Given the description of an element on the screen output the (x, y) to click on. 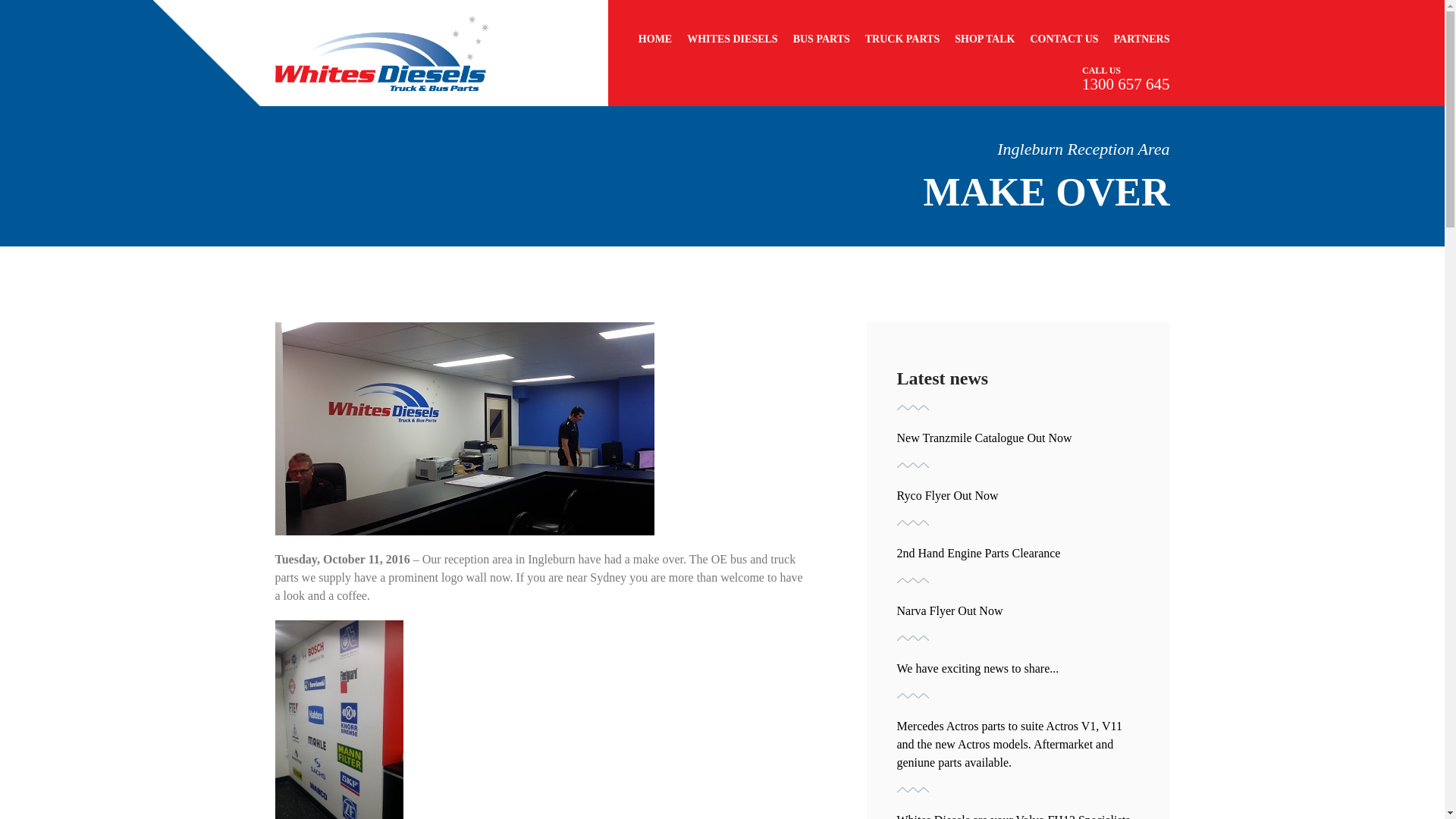
BUS PARTS (821, 39)
Ryco Flyer Out Now (946, 495)
SHOP TALK (984, 39)
TRUCK PARTS (901, 39)
Narva Flyer Out Now (949, 610)
CONTACT US (1063, 39)
PARTNERS (1141, 39)
WHITES DIESELS (732, 39)
2nd Hand Engine Parts Clearance (977, 553)
New Tranzmile Catalogue Out Now (983, 437)
HOME (655, 39)
We have exciting news to share... (977, 667)
Whites Diesels are your Volvo FH13 Specialists (1012, 816)
